Given the description of an element on the screen output the (x, y) to click on. 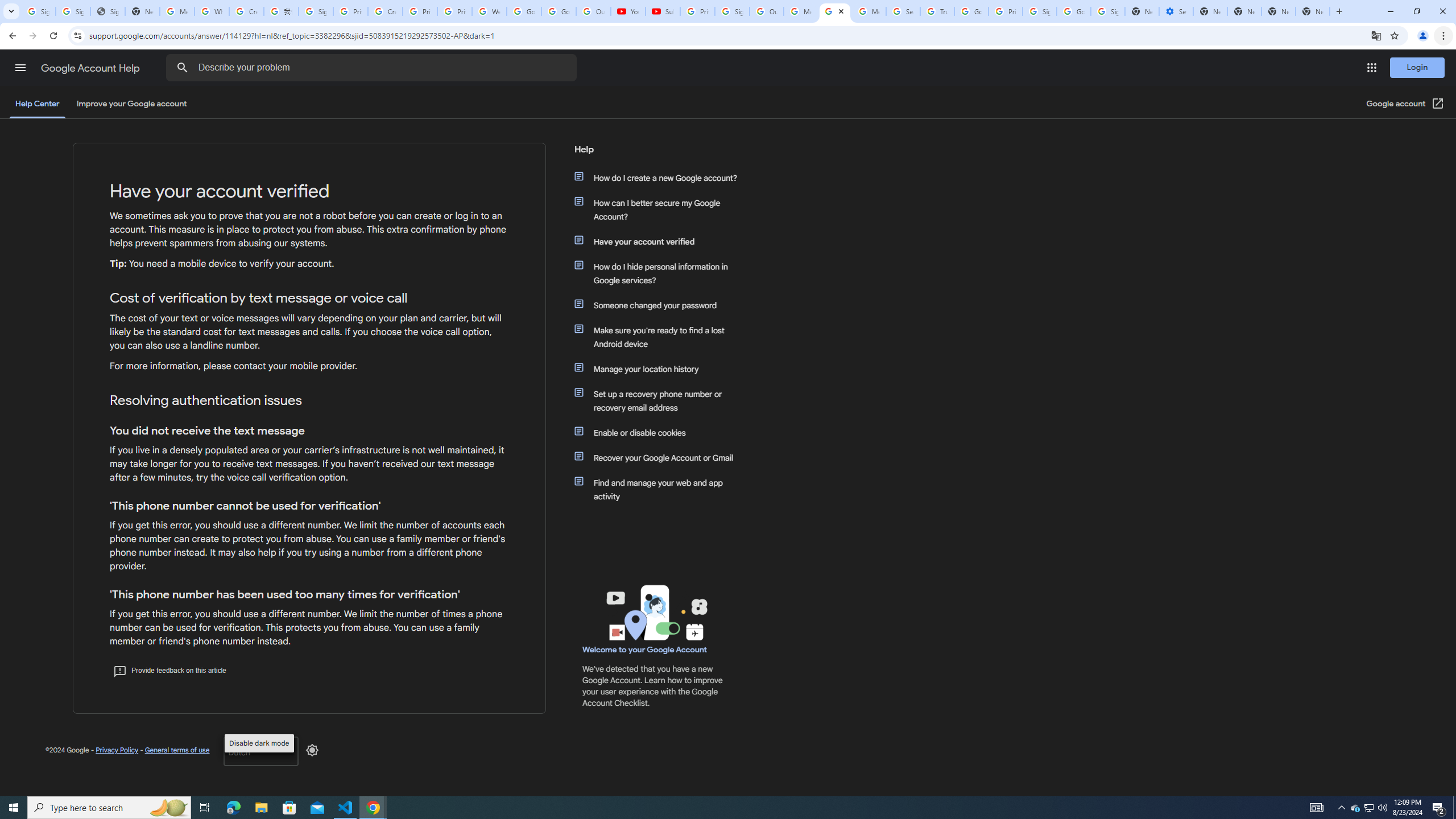
Google Account (557, 11)
Search the Help Center (181, 67)
Sign In - USA TODAY (107, 11)
Provide feedback on this article (169, 670)
Google Account (Opens in new window) (1404, 103)
